Given the description of an element on the screen output the (x, y) to click on. 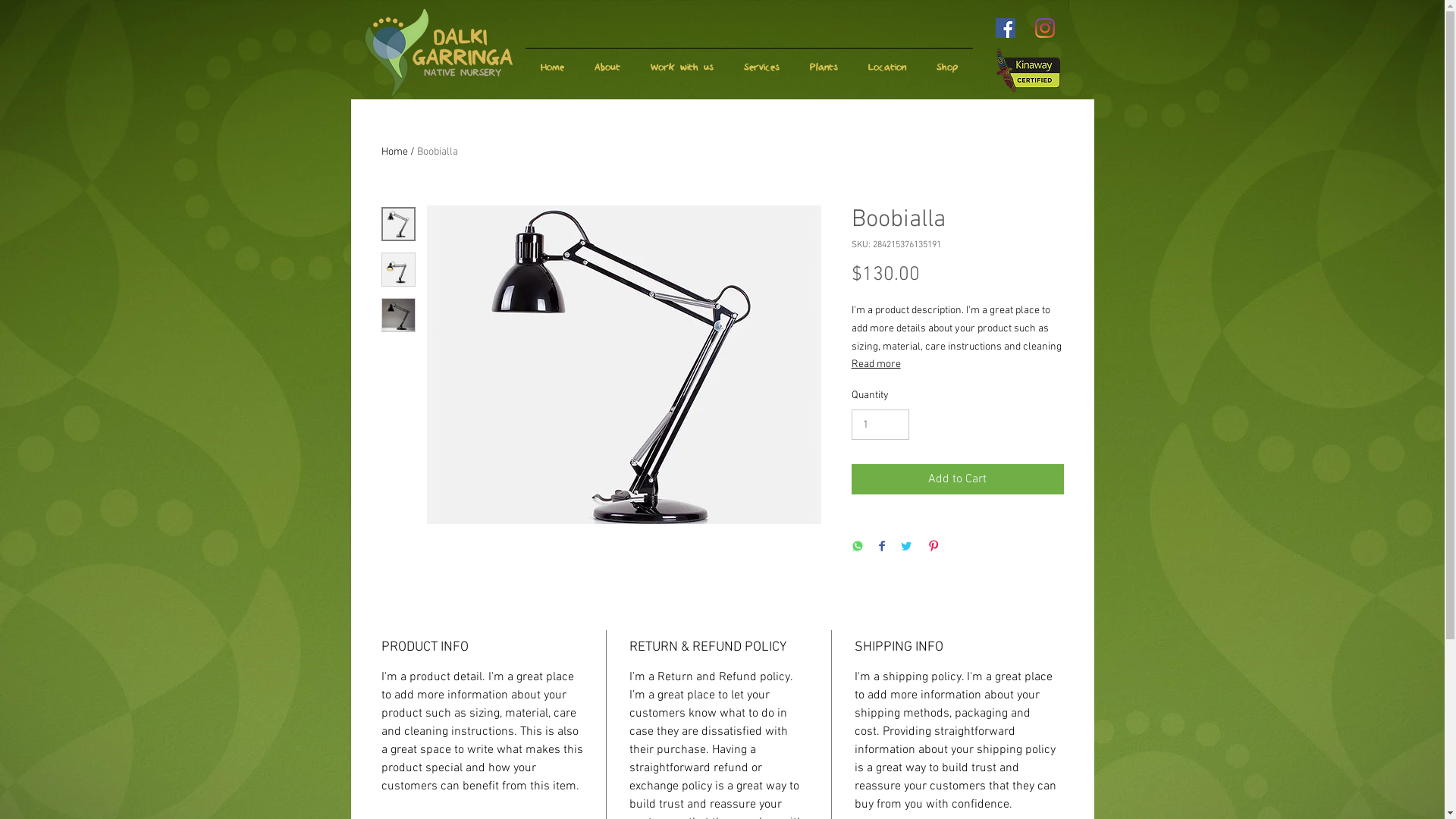
About Element type: text (607, 61)
Boobialla Element type: text (437, 151)
Services Element type: text (760, 61)
Home Element type: text (551, 61)
Plants Element type: text (823, 61)
Shop Element type: text (946, 61)
Read more Element type: text (956, 364)
Home Element type: text (393, 151)
Location Element type: text (886, 61)
Add to Cart Element type: text (956, 479)
Work with us Element type: text (681, 61)
